Given the description of an element on the screen output the (x, y) to click on. 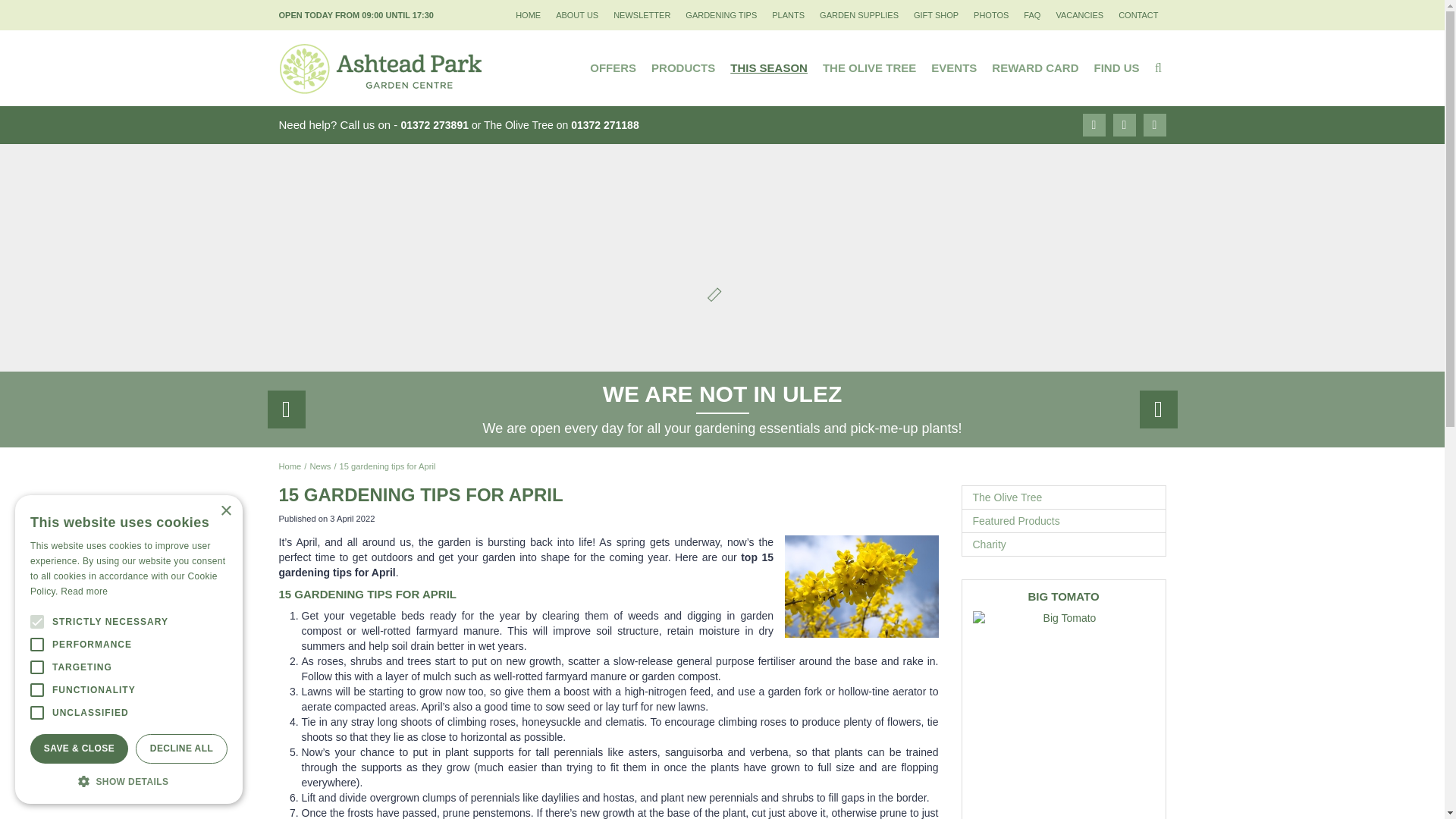
FAQ (1032, 15)
NEWSLETTER (641, 15)
PHOTOS (991, 15)
Home (290, 466)
Vacancies (1079, 15)
Previous (285, 409)
CONTACT (1138, 15)
Garden Supplies (858, 15)
Home (528, 15)
15 gardening tips for April (387, 466)
Next (1157, 409)
Photos (991, 15)
Plants (788, 15)
HOME (528, 15)
ABOUT US (576, 15)
